Given the description of an element on the screen output the (x, y) to click on. 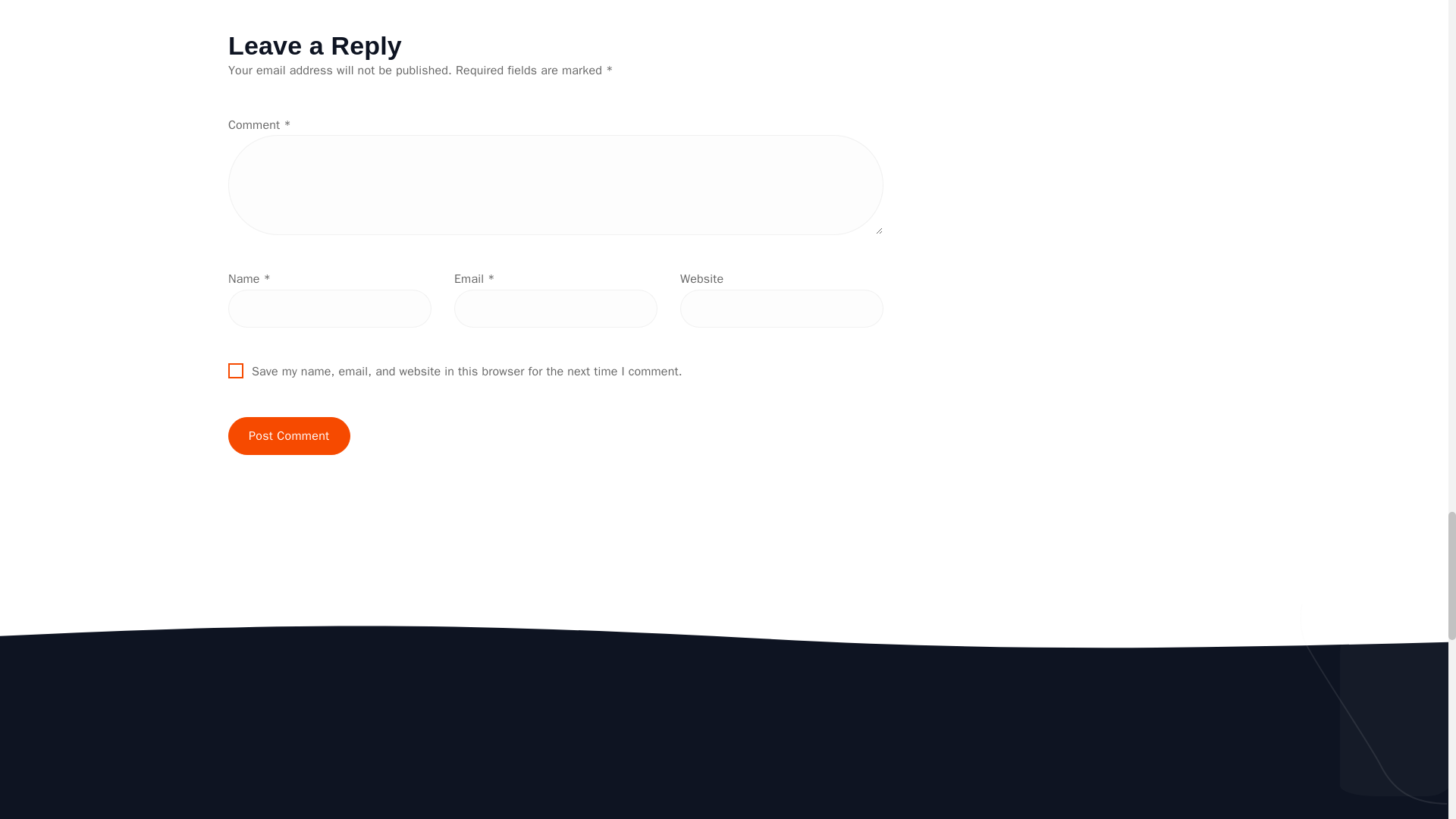
yes (235, 370)
Post Comment (289, 435)
